Given the description of an element on the screen output the (x, y) to click on. 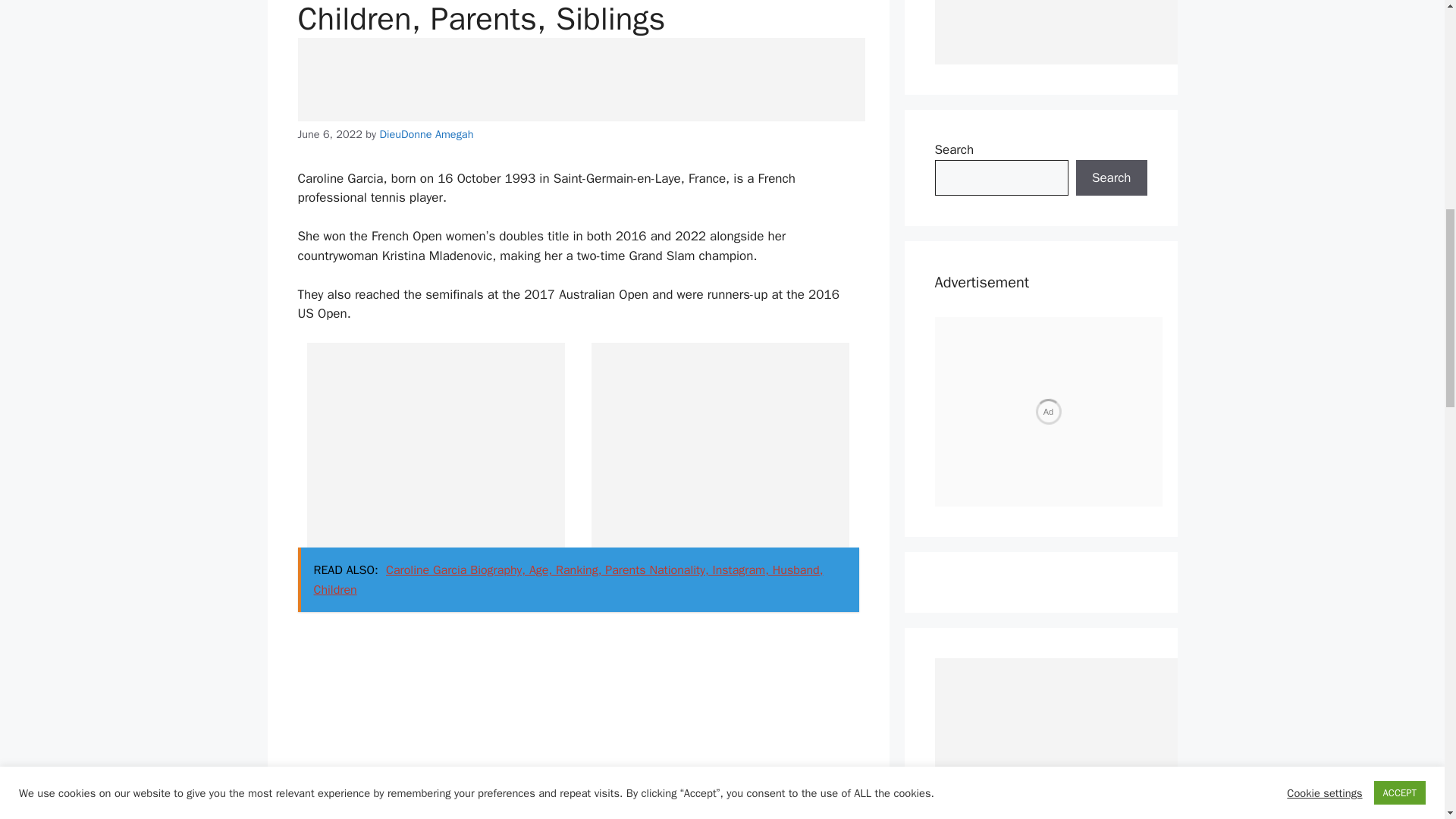
View all posts by DieuDonne Amegah (425, 133)
Search (1111, 176)
DieuDonne Amegah (425, 133)
